Given the description of an element on the screen output the (x, y) to click on. 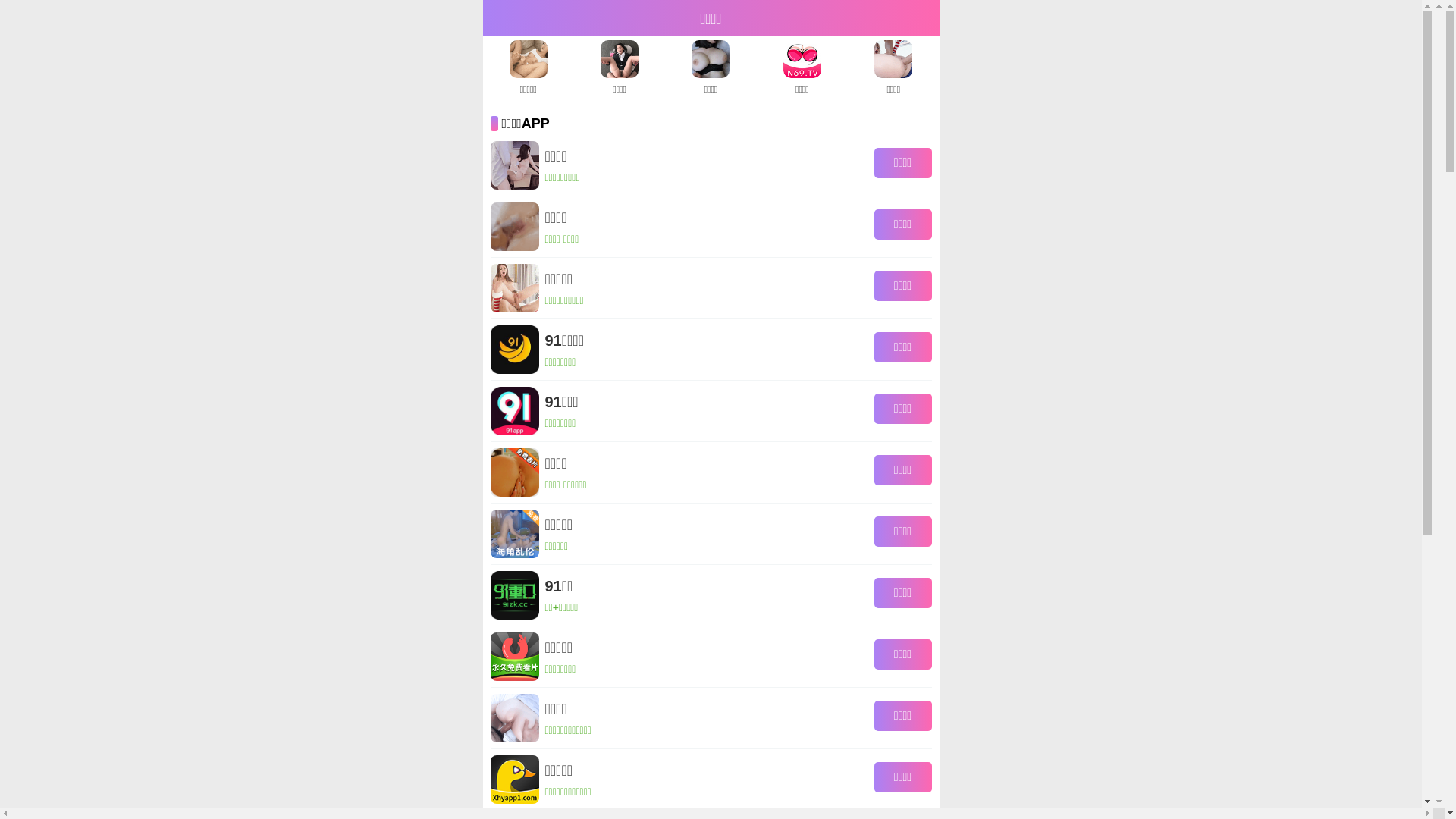
4 Element type: text (742, 528)
RSS Element type: text (1104, 8)
XML Element type: text (1130, 8)
2 Element type: text (707, 528)
1 Element type: text (689, 528)
3 Element type: text (724, 528)
